Given the description of an element on the screen output the (x, y) to click on. 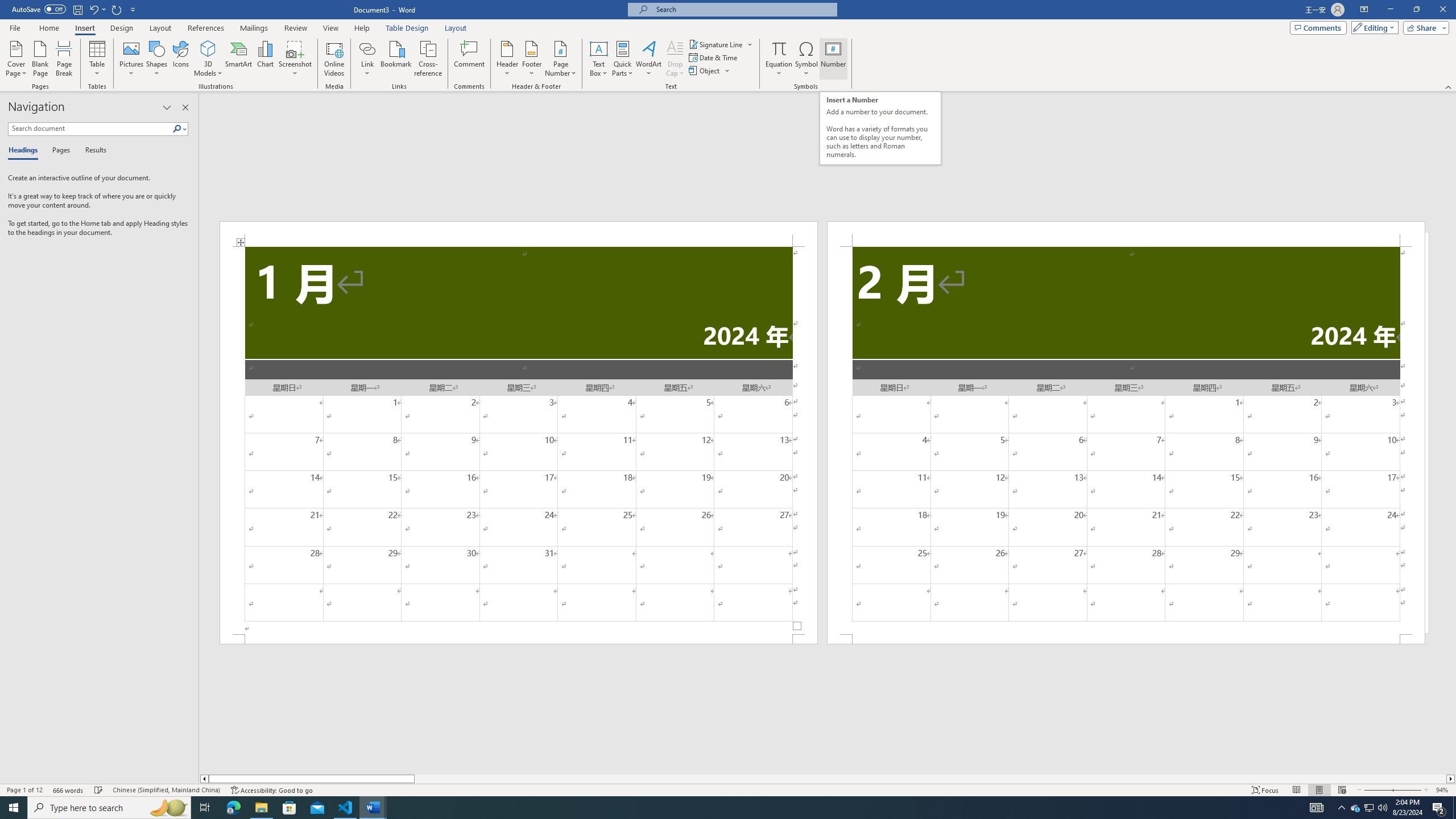
Accessibility Checker Accessibility: Good to go (271, 790)
Object... (709, 69)
Class: NetUIScrollBar (827, 778)
Symbol (806, 58)
Header -Section 2- (1126, 233)
Shapes (156, 58)
Link (367, 58)
Page Break (63, 58)
Page right (929, 778)
